Given the description of an element on the screen output the (x, y) to click on. 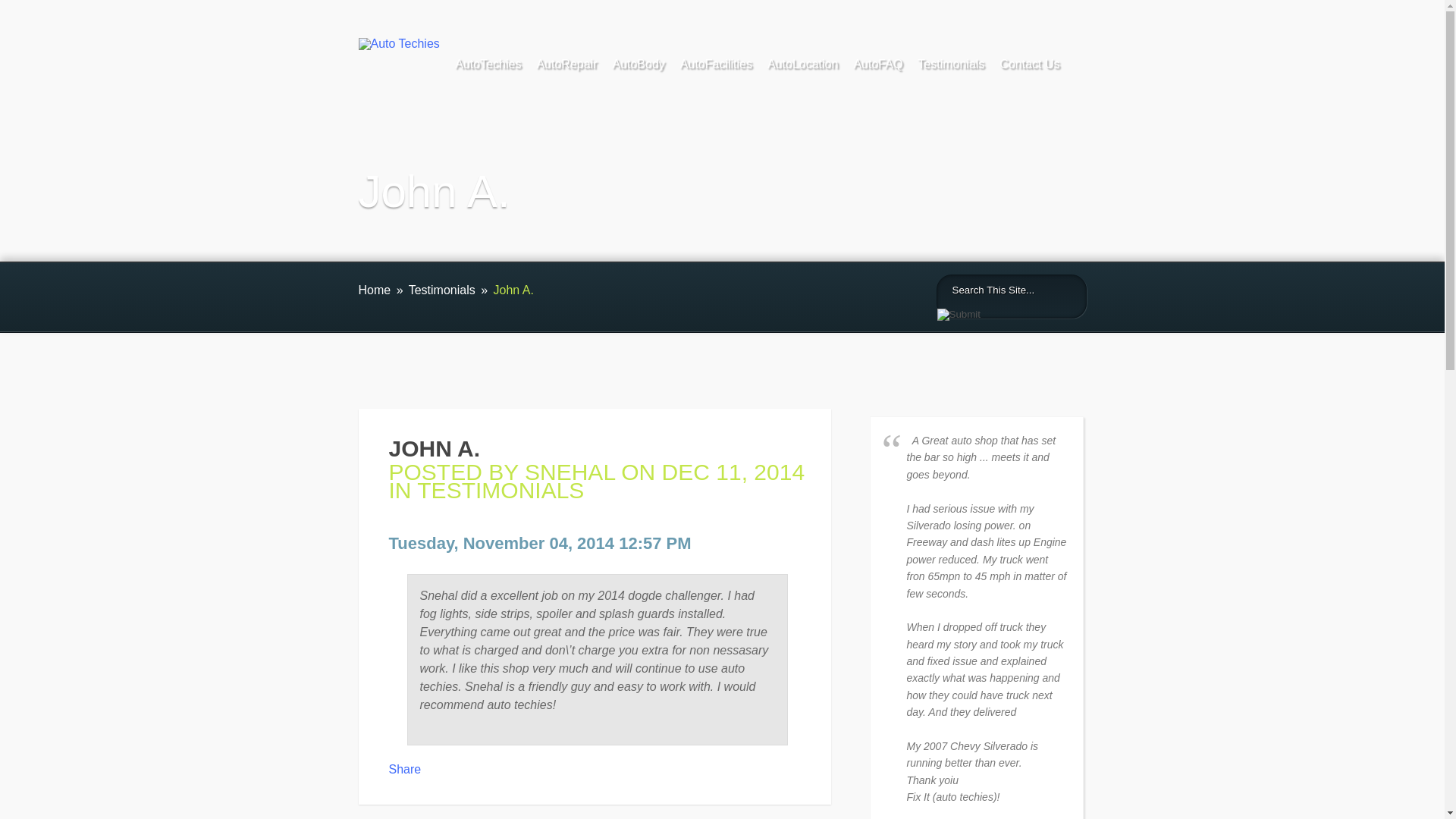
Posts by snehal (569, 471)
AutoFacilities (715, 67)
Home (374, 289)
AutoTechies (487, 67)
Search This Site... (998, 289)
AutoLocation (802, 67)
TESTIMONIALS (499, 489)
AutoRepair (565, 67)
AutoBody (637, 67)
SNEHAL (569, 471)
